Given the description of an element on the screen output the (x, y) to click on. 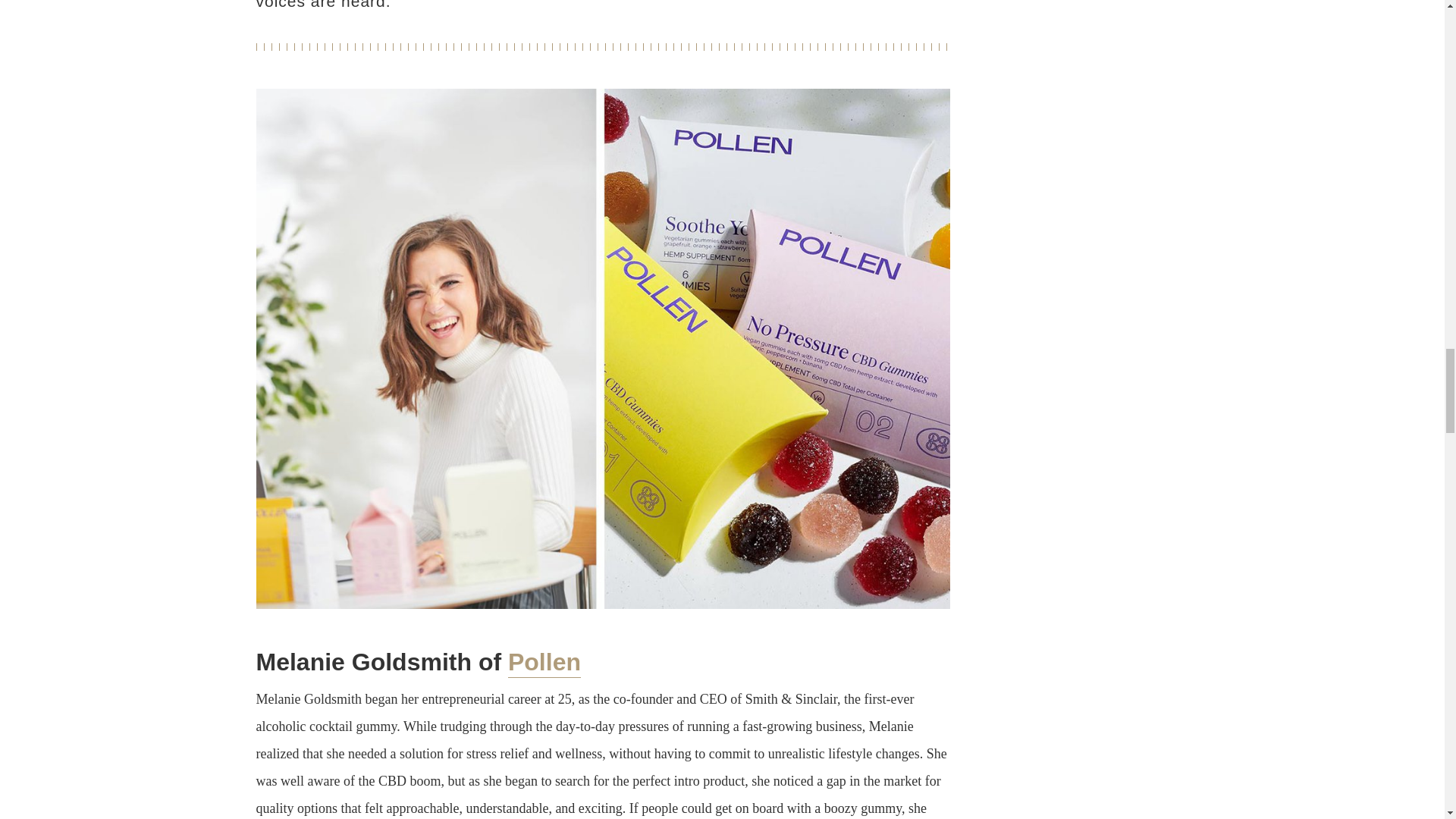
Pollen (544, 663)
